Given the description of an element on the screen output the (x, y) to click on. 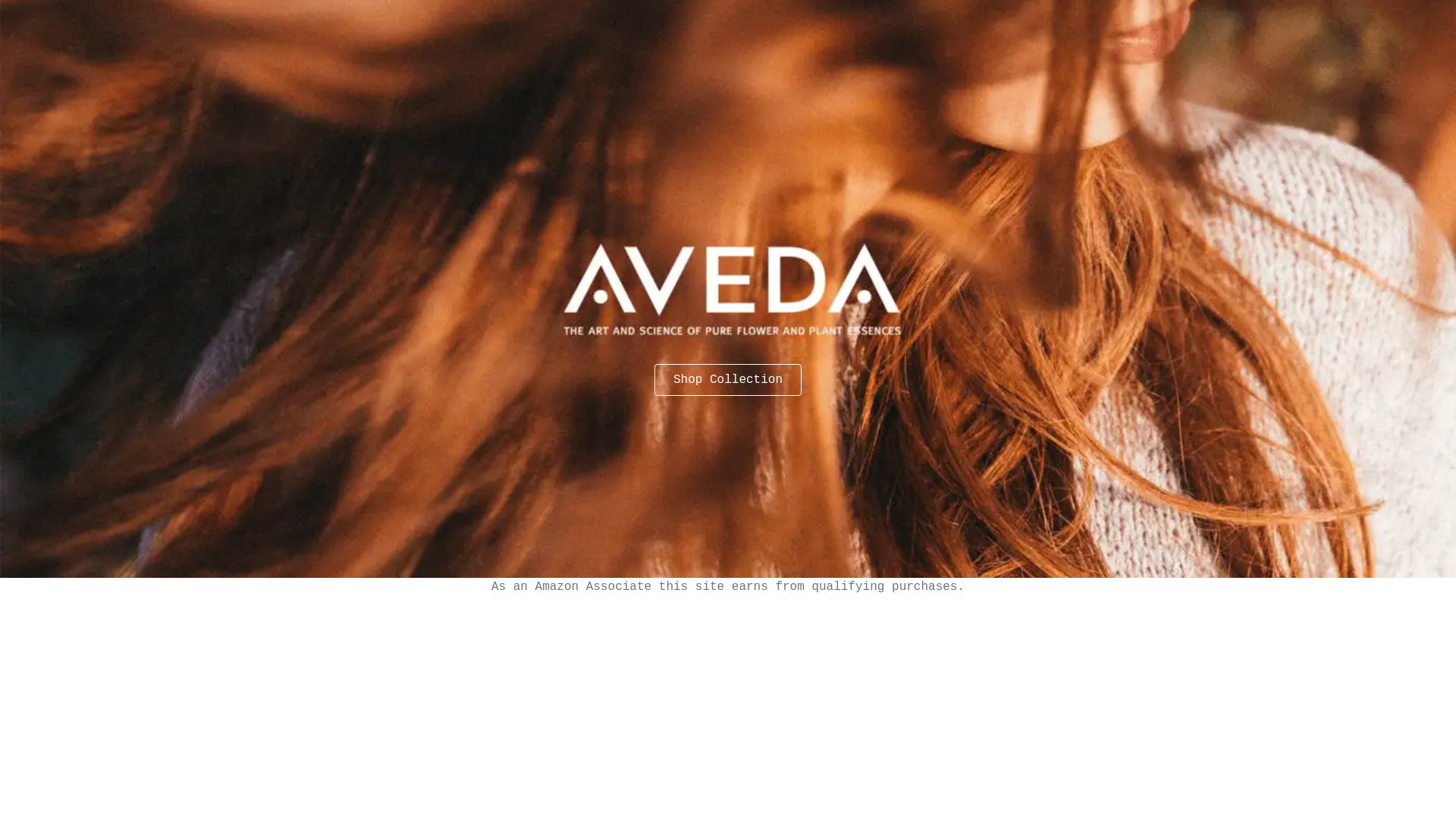
Search Element type: text (941, 498)
MY ACCOUNT Element type: text (508, 390)
SAMPLE PAGE Element type: text (605, 390)
SHOP Element type: text (681, 390)
CHECKOUT Element type: text (418, 390)
CART Element type: text (349, 390)
